Given the description of an element on the screen output the (x, y) to click on. 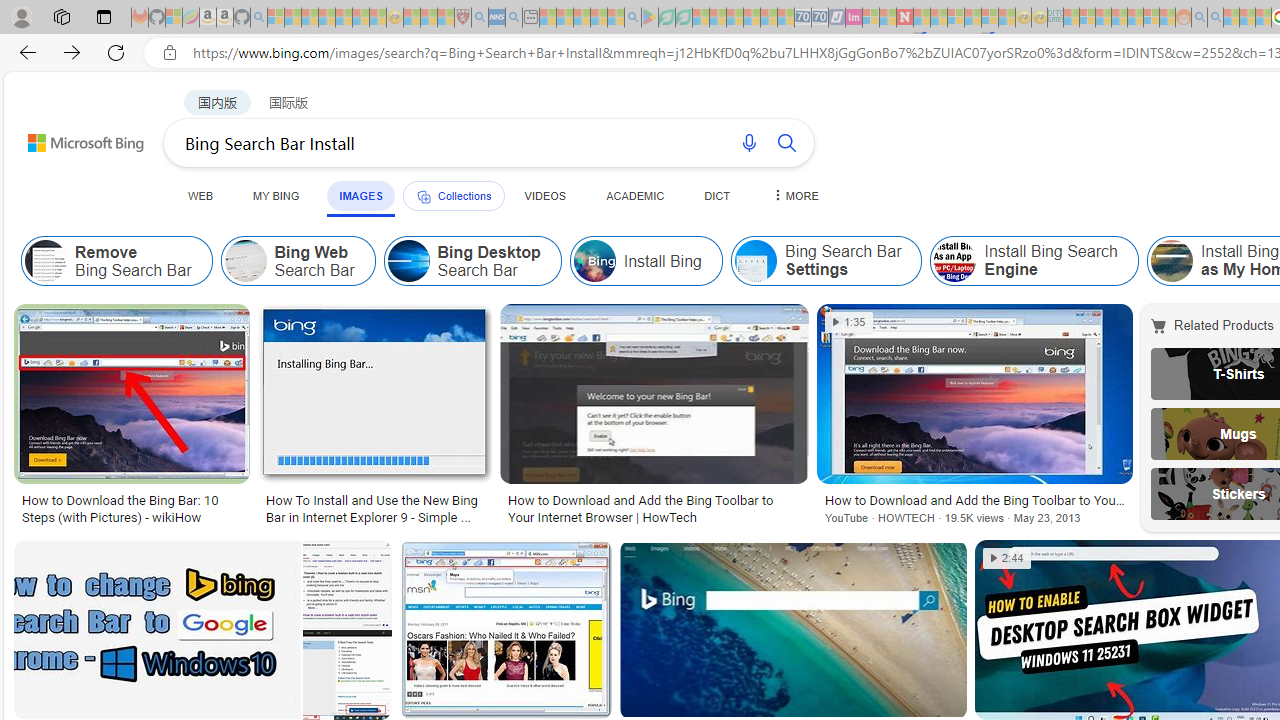
DICT (717, 195)
Search button (786, 142)
ACADEMIC (635, 195)
Bing Desktop Search Bar (472, 260)
Dropdown Menu (793, 195)
